Given the description of an element on the screen output the (x, y) to click on. 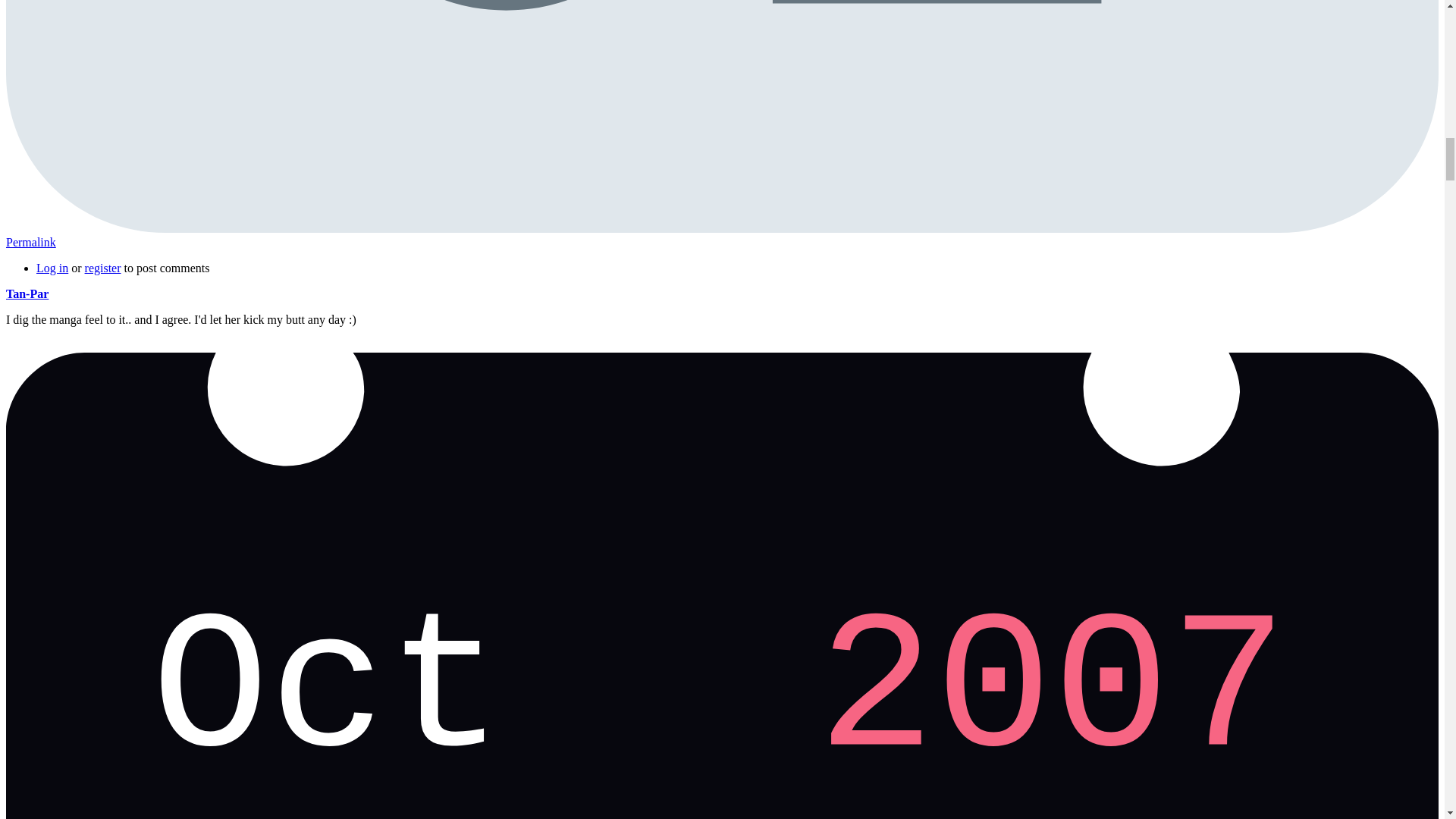
View user profile. (26, 293)
Permalink (30, 241)
Tan-Par (26, 293)
Log in (52, 267)
register (102, 267)
